Given the description of an element on the screen output the (x, y) to click on. 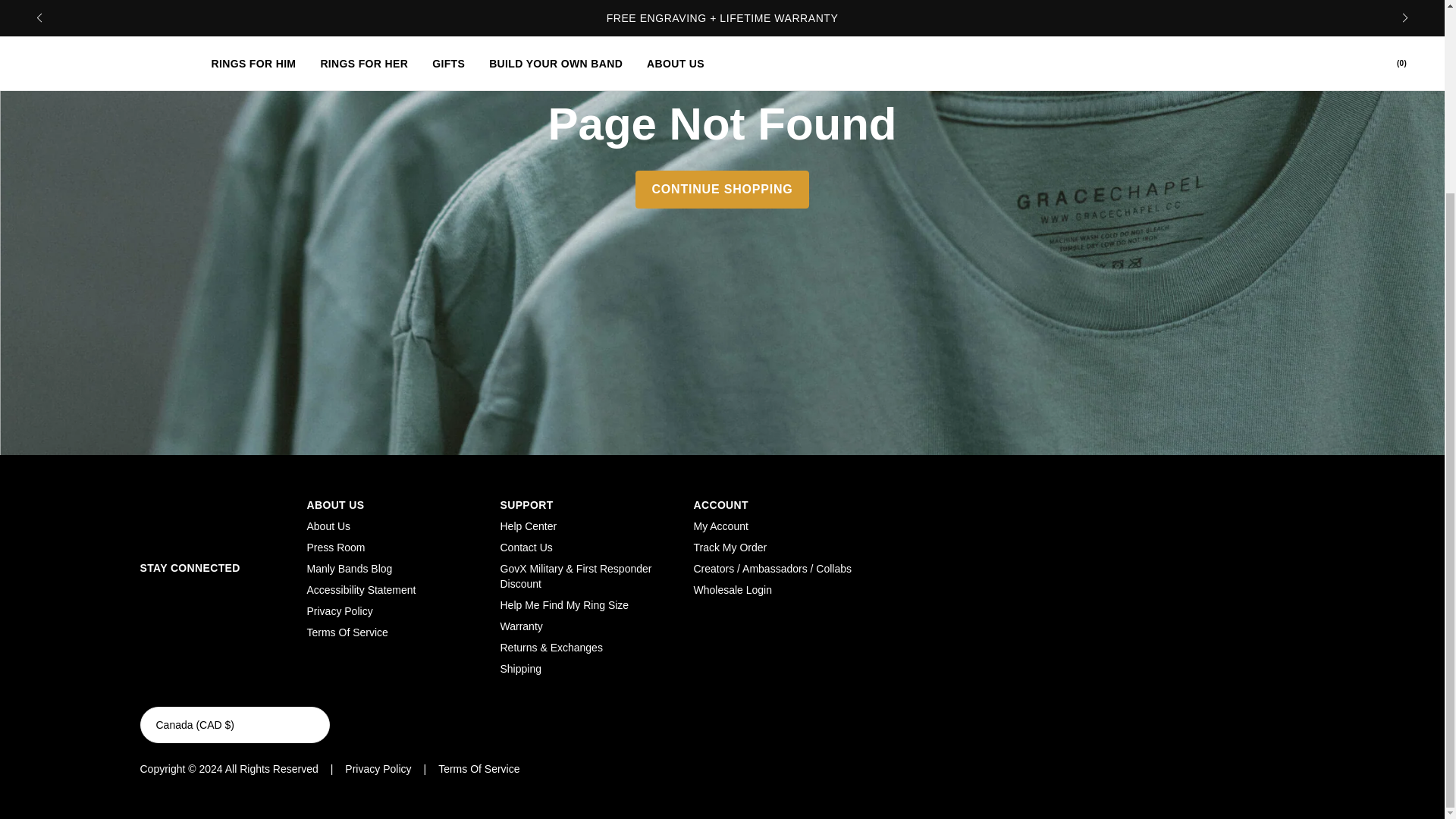
Shipping (520, 668)
Privacy Policy (338, 611)
Manly Bands Blog (348, 568)
Terms Of Service (346, 632)
Warranty (521, 625)
Accessibility Statement (359, 589)
Press Room (335, 547)
CONTINUE SHOPPING (721, 188)
About Us (327, 526)
Contact Us (526, 547)
Help Me Find My Ring Size (564, 604)
My Account (720, 526)
Track My Order (730, 547)
Help Center (528, 526)
